Given the description of an element on the screen output the (x, y) to click on. 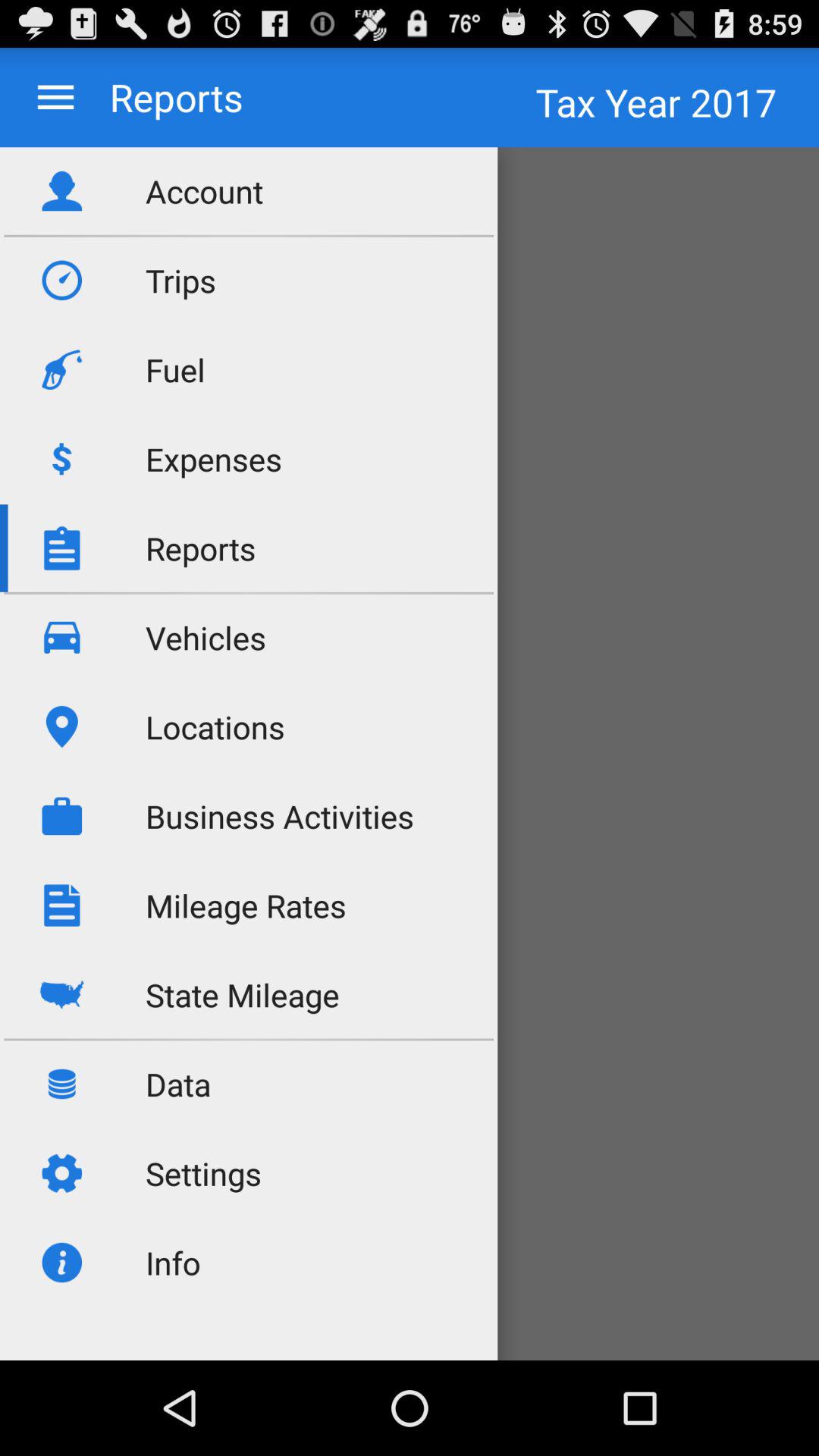
turn off mileage rates (245, 905)
